Given the description of an element on the screen output the (x, y) to click on. 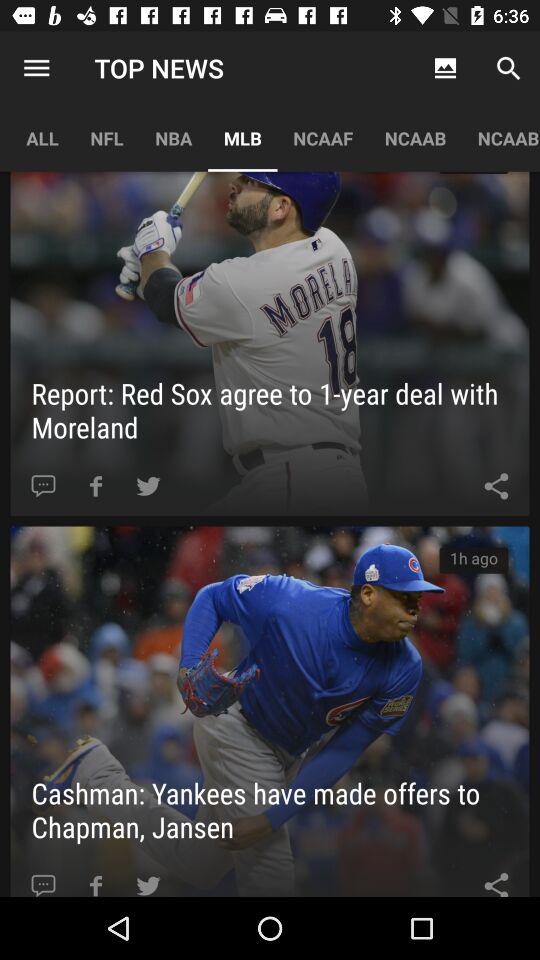
launch the app to the right of mlb (323, 138)
